Given the description of an element on the screen output the (x, y) to click on. 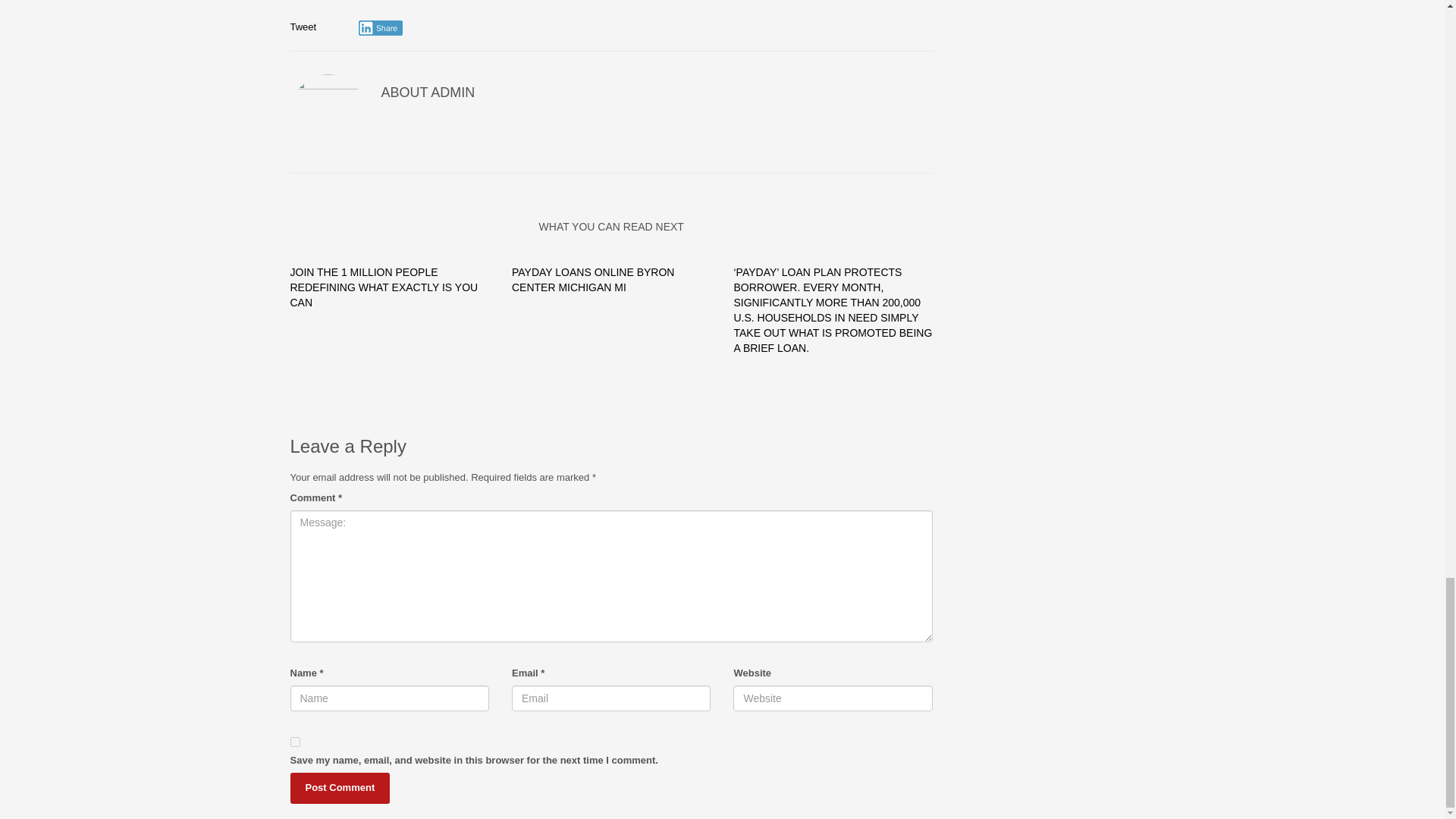
Share (380, 28)
Tweet (302, 26)
JOIN THE 1 MILLION PEOPLE REDEFINING WHAT EXACTLY IS YOU CAN (383, 287)
PAYDAY LOANS ONLINE BYRON CENTER MICHIGAN MI (593, 279)
Post Comment (339, 788)
Post Comment (339, 788)
yes (294, 741)
